Given the description of an element on the screen output the (x, y) to click on. 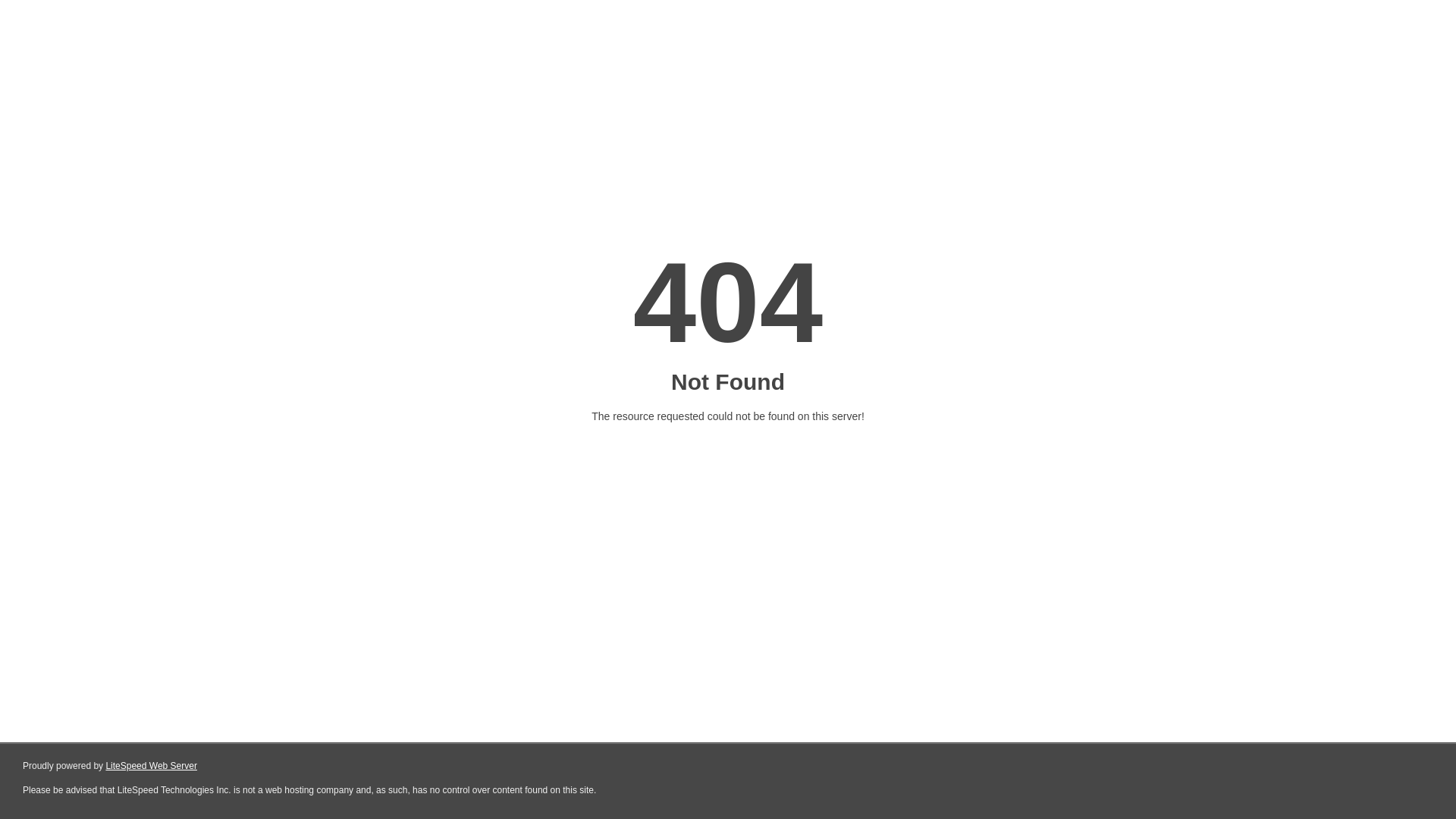
LiteSpeed Web Server Element type: text (151, 765)
